Given the description of an element on the screen output the (x, y) to click on. 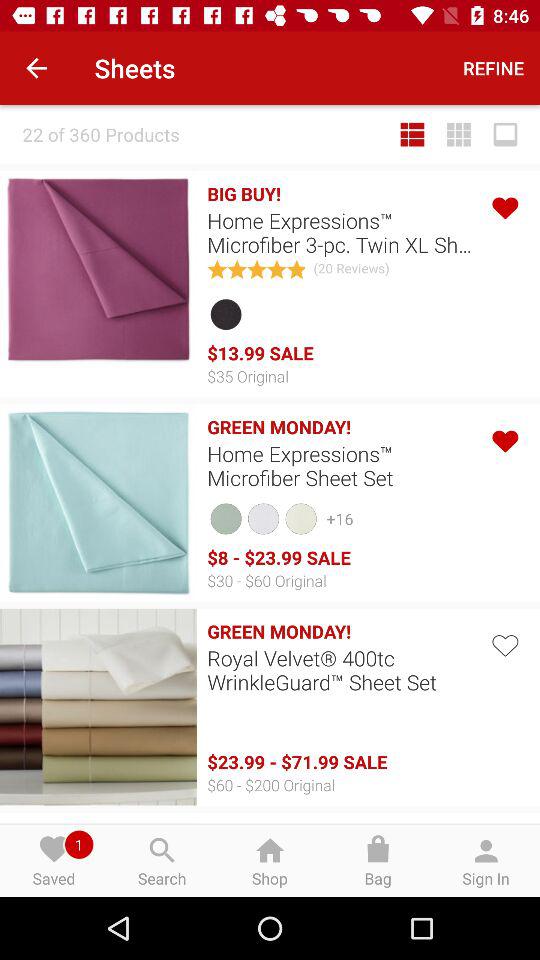
go to favorite (504, 643)
